Given the description of an element on the screen output the (x, y) to click on. 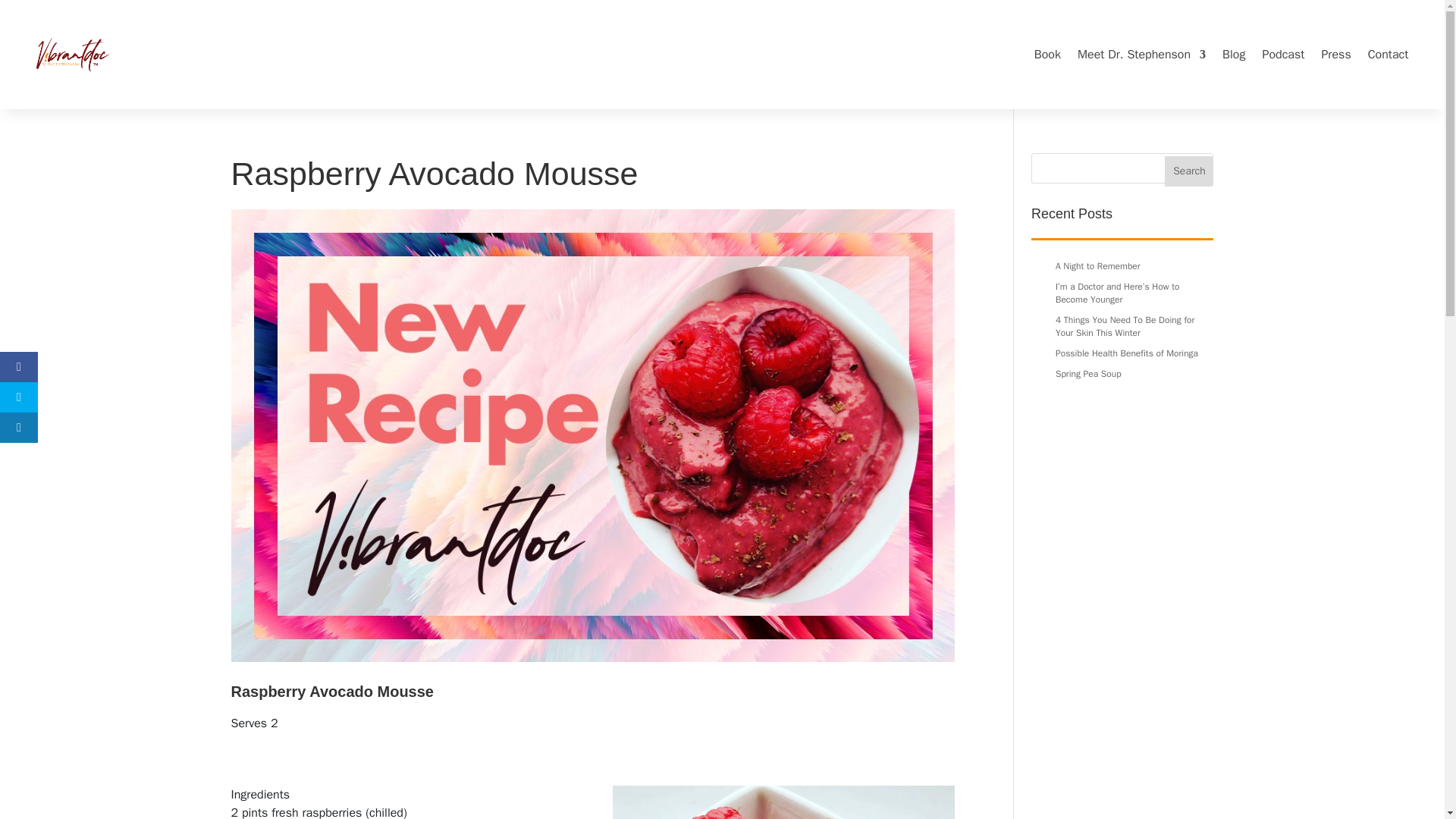
Possible Health Benefits of Moringa (1126, 353)
Spring Pea Soup (1088, 373)
Search (1188, 171)
Search (1188, 171)
Meet Dr. Stephenson (1141, 54)
4 Things You Need To Be Doing for Your Skin This Winter (1124, 326)
A Night to Remember (1097, 265)
